Given the description of an element on the screen output the (x, y) to click on. 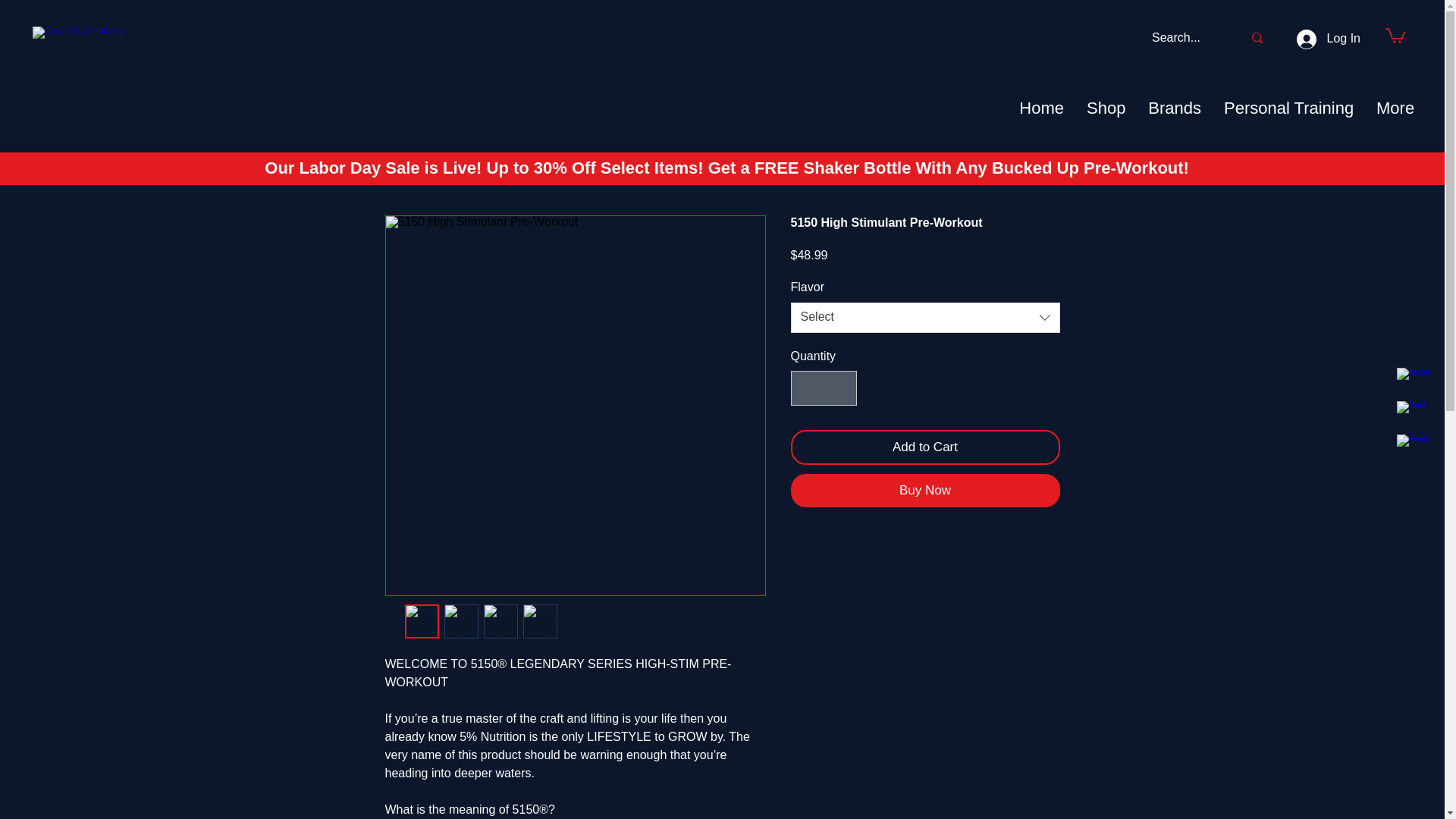
Personal Training (1288, 107)
Shop (1106, 107)
Log In (1328, 38)
1 (823, 388)
Home (1041, 107)
